Given the description of an element on the screen output the (x, y) to click on. 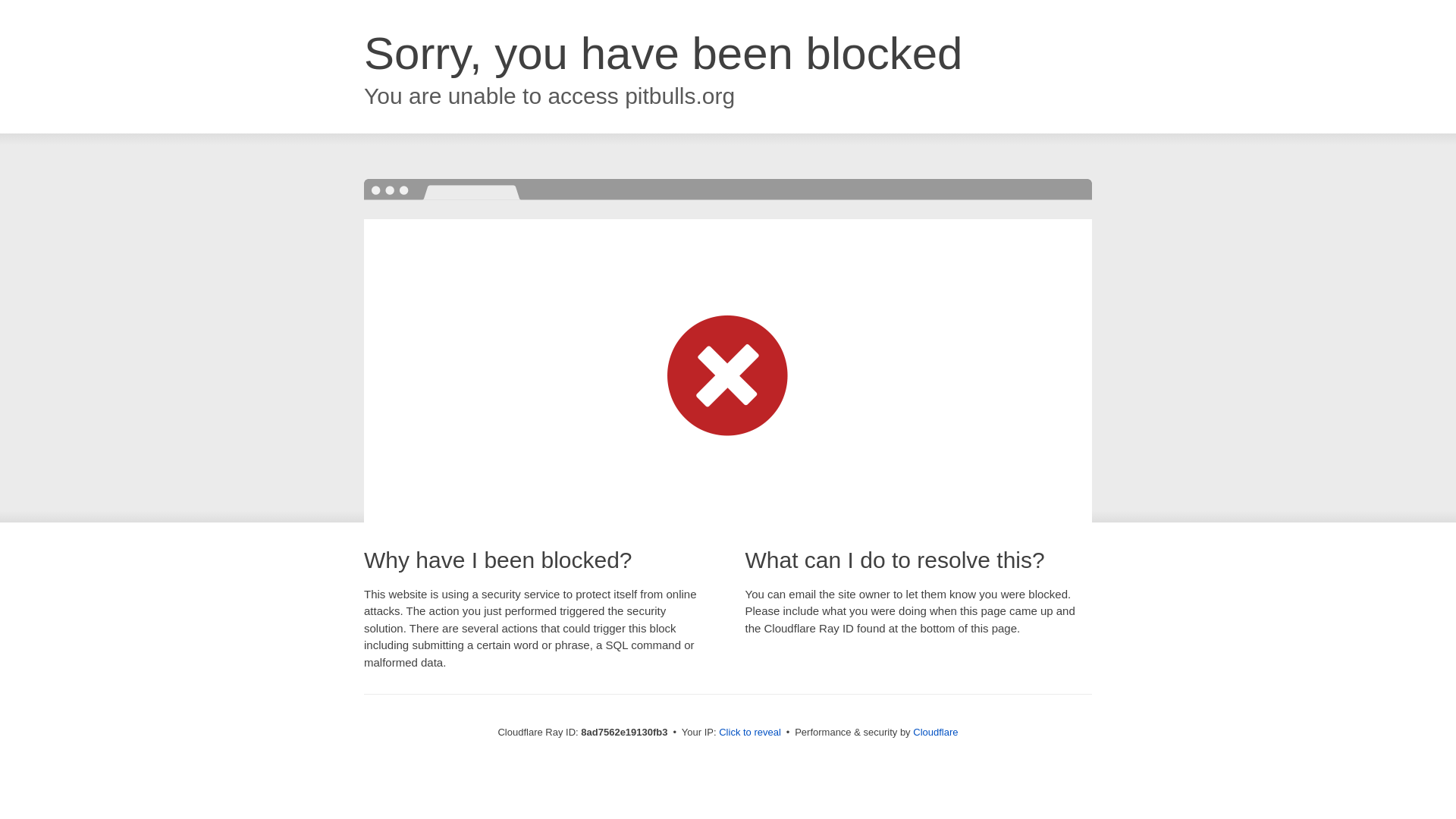
Click to reveal (749, 732)
Cloudflare (935, 731)
